Given the description of an element on the screen output the (x, y) to click on. 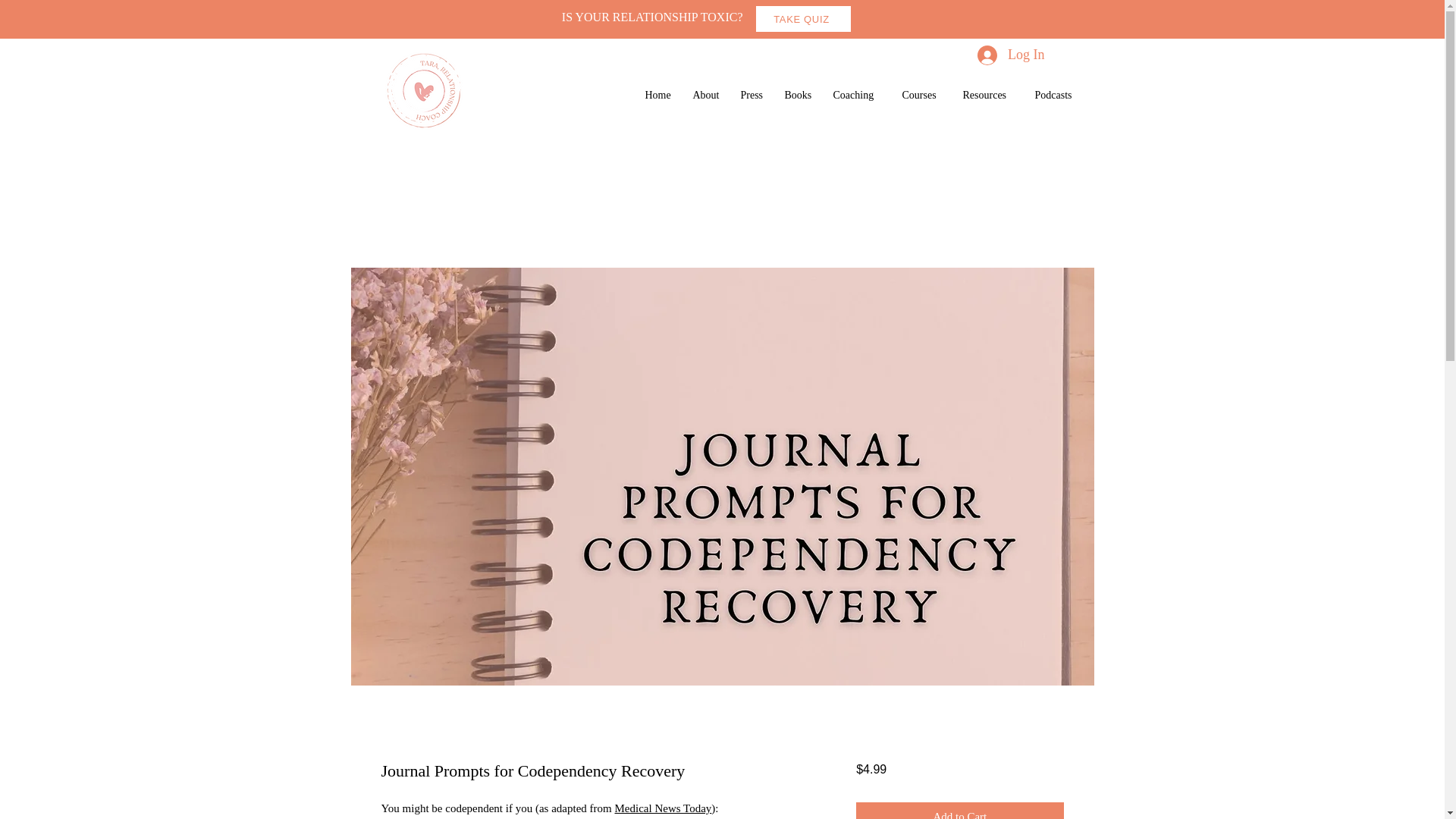
Books (800, 94)
Home (660, 94)
Press (754, 94)
Add to Cart (959, 810)
Resources (991, 94)
Medical News Today (662, 808)
About (709, 94)
Log In (1010, 54)
TAKE QUIZ (802, 18)
